Given the description of an element on the screen output the (x, y) to click on. 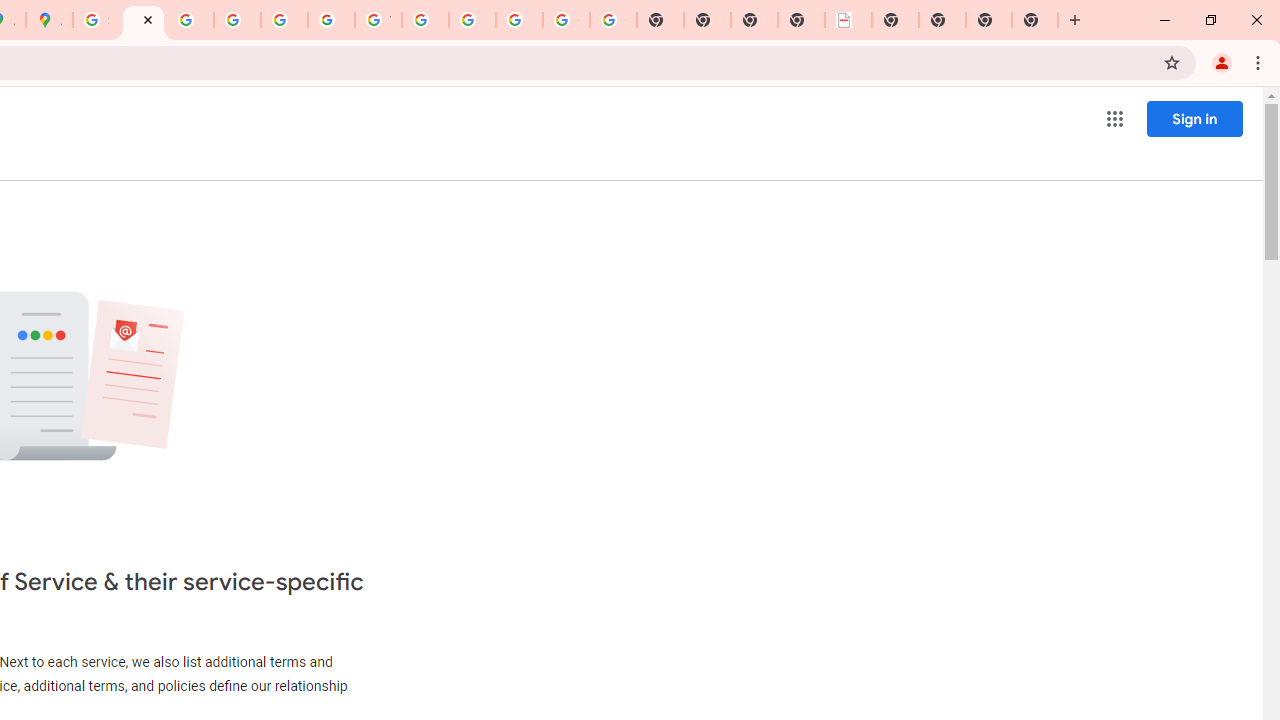
LAAD Defence & Security 2025 | BAE Systems (848, 20)
New Tab (895, 20)
Privacy Help Center - Policies Help (189, 20)
New Tab (1035, 20)
